Given the description of an element on the screen output the (x, y) to click on. 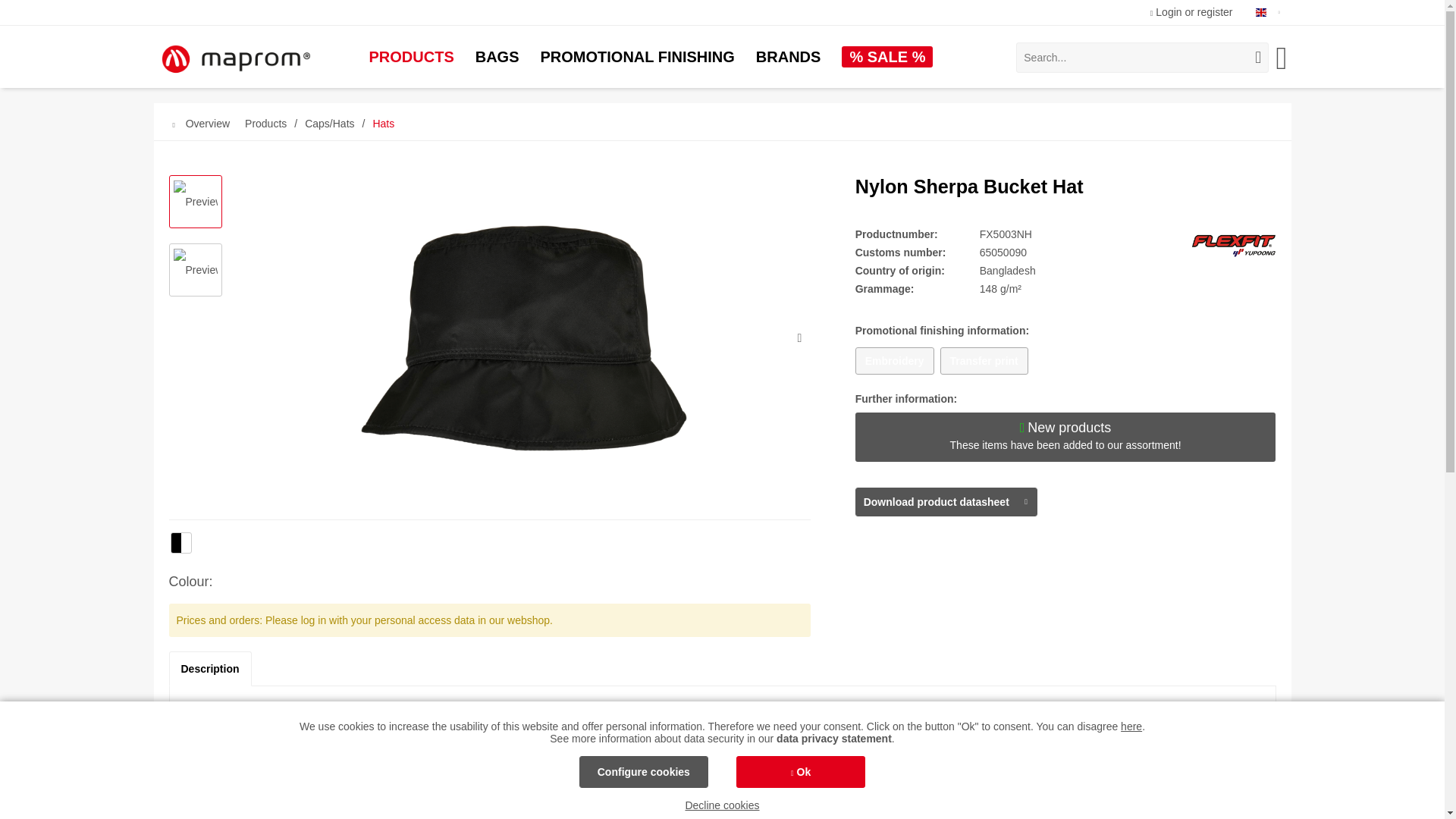
MAPROM GmbH - Switch to homepage (234, 60)
BAGS (496, 57)
Products (411, 57)
Brands (788, 57)
PRODUCTS (411, 57)
BRANDS (788, 57)
Login or register (1191, 11)
BRANDS (788, 57)
Promotional Finishing (637, 57)
Bags (496, 57)
PROMOTIONAL FINISHING (637, 57)
PROMOTIONAL FINISHING (637, 57)
Login or register (1191, 11)
PRODUCTS (411, 57)
BAGS (496, 57)
